Given the description of an element on the screen output the (x, y) to click on. 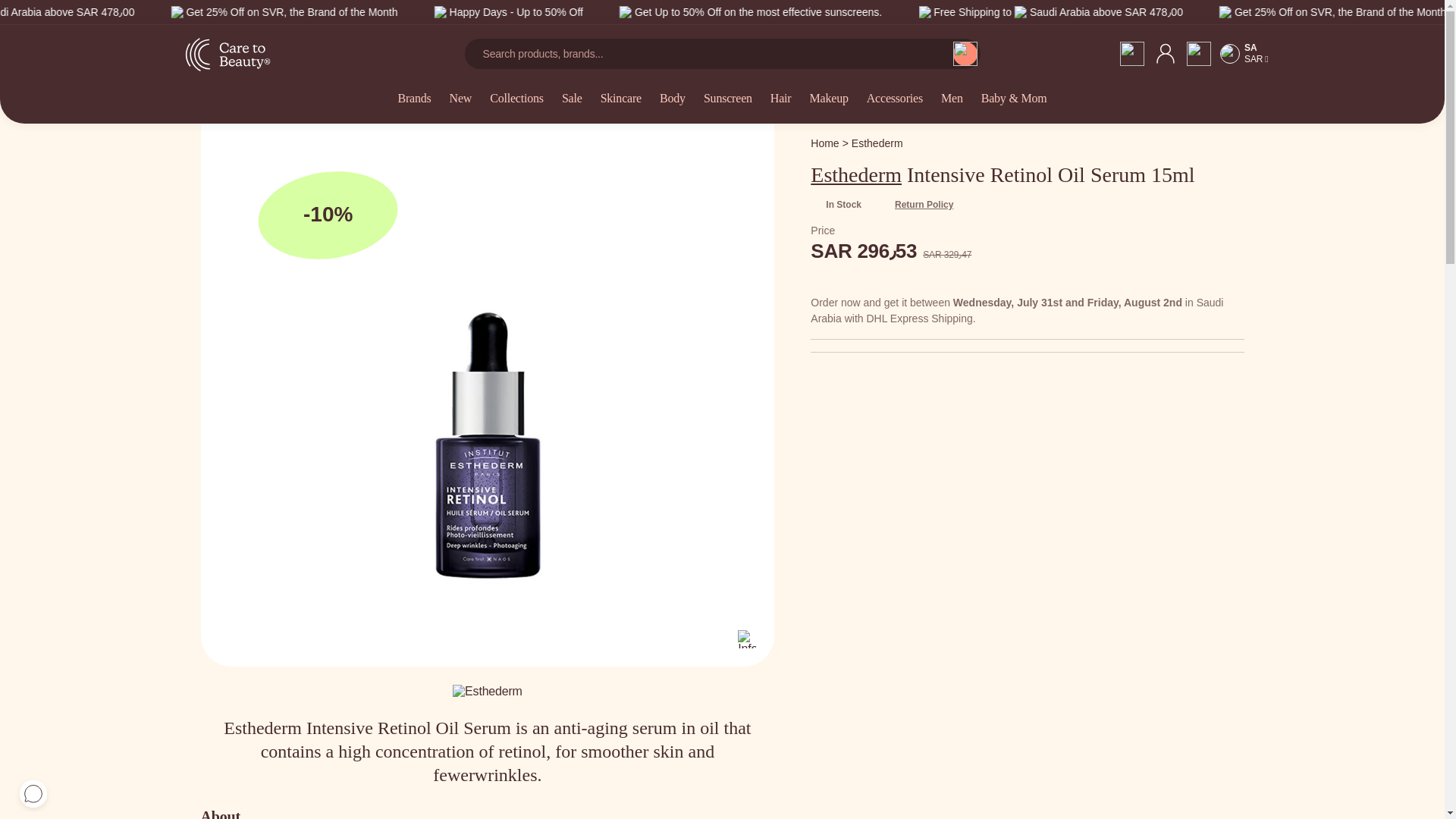
Collections (516, 107)
Esthederm (876, 143)
Brands (413, 107)
Go To Home Page (824, 143)
Return Policy (916, 204)
New (461, 107)
